Given the description of an element on the screen output the (x, y) to click on. 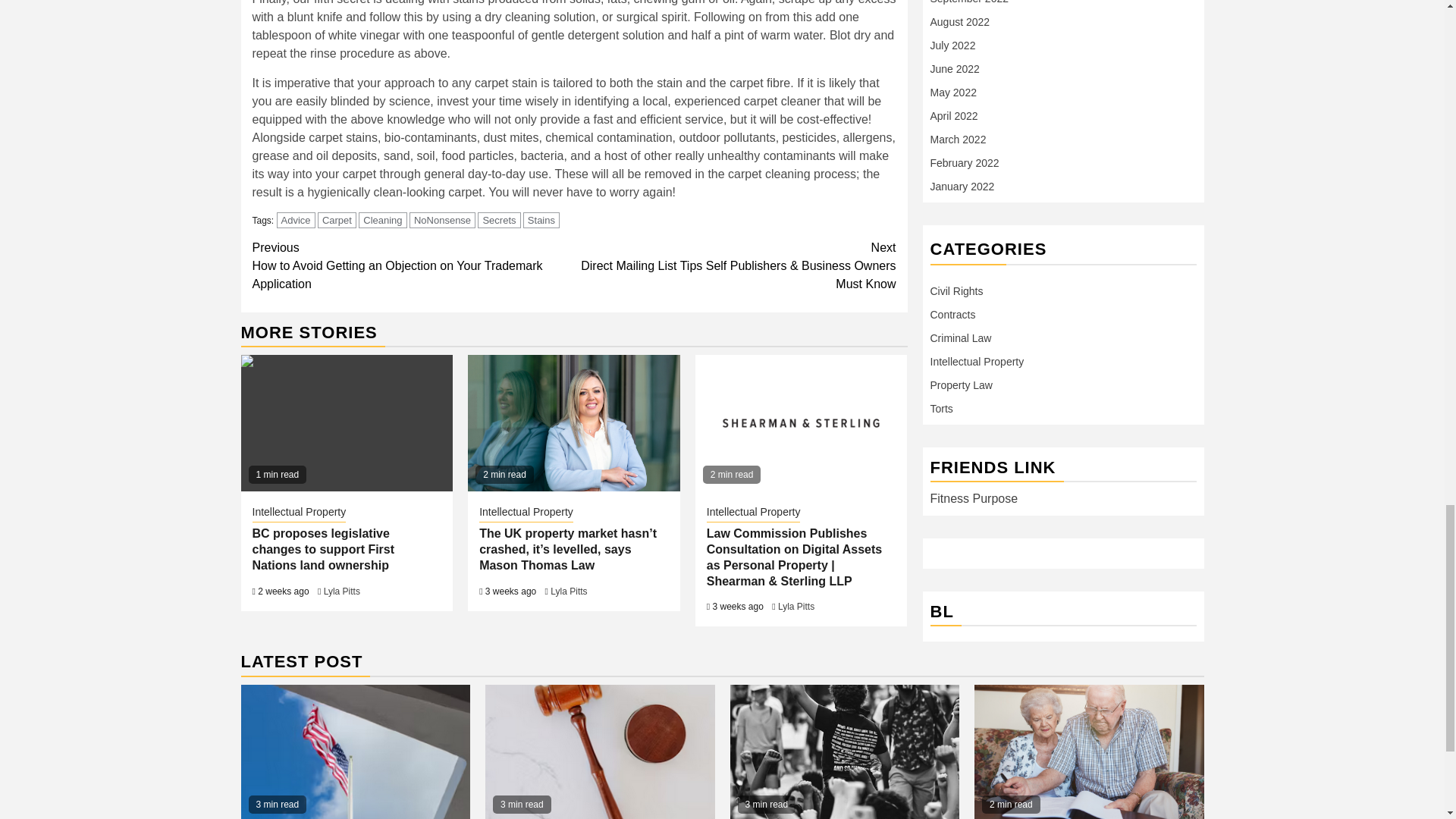
Advice (295, 220)
The Pulse of Democracy: The 2024 US Election Heats Up (355, 751)
Secrets (498, 220)
Lyla Pitts (341, 591)
NoNonsense (442, 220)
Cleaning (382, 220)
Stains (540, 220)
Lyla Pitts (568, 591)
Intellectual Property (298, 513)
